Given the description of an element on the screen output the (x, y) to click on. 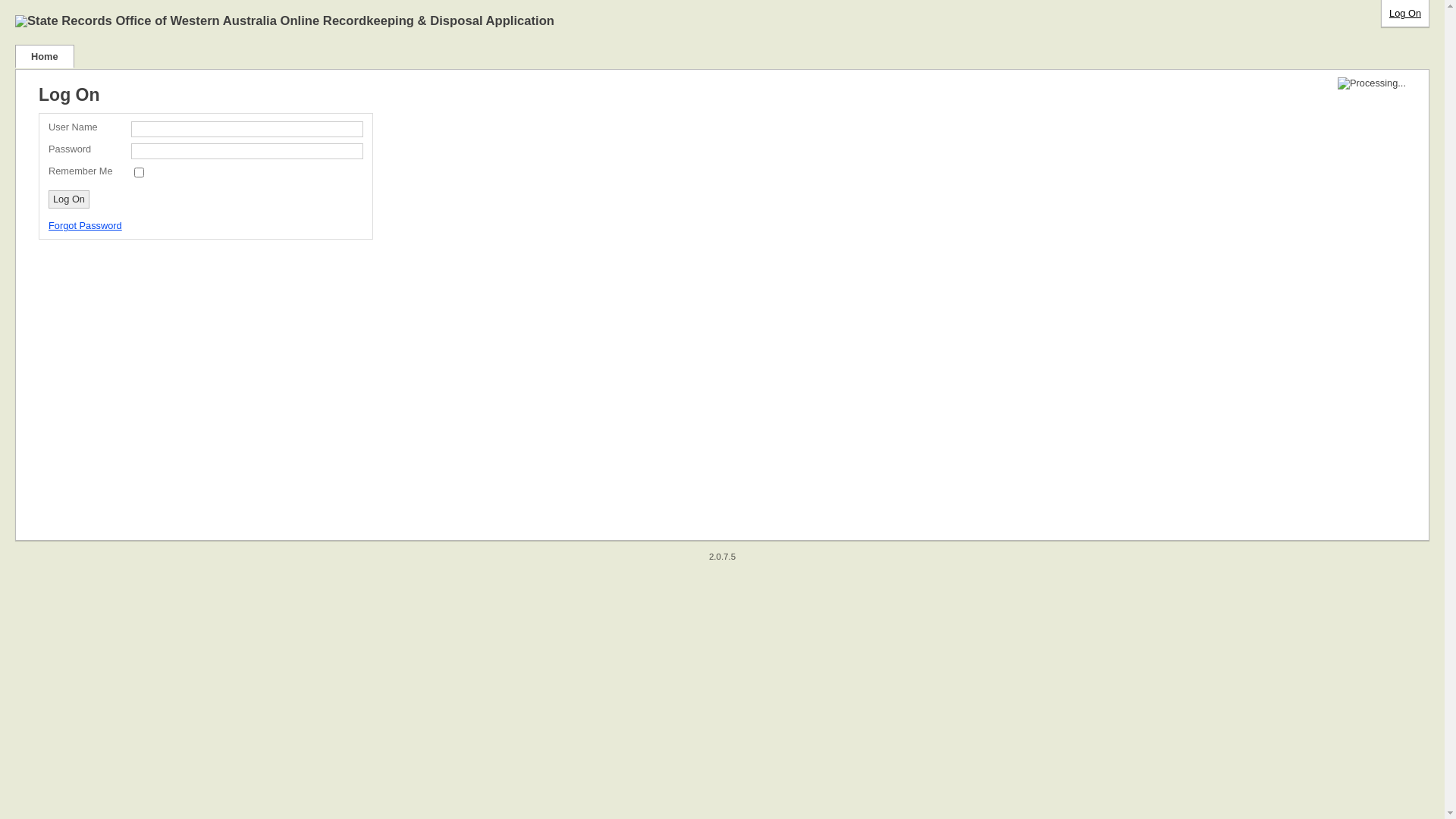
Forgot Password Element type: text (85, 225)
Log On Element type: text (68, 199)
Log On Element type: text (1405, 12)
State Records Office of Western Australia Element type: hover (145, 21)
Home Element type: text (44, 56)
